Given the description of an element on the screen output the (x, y) to click on. 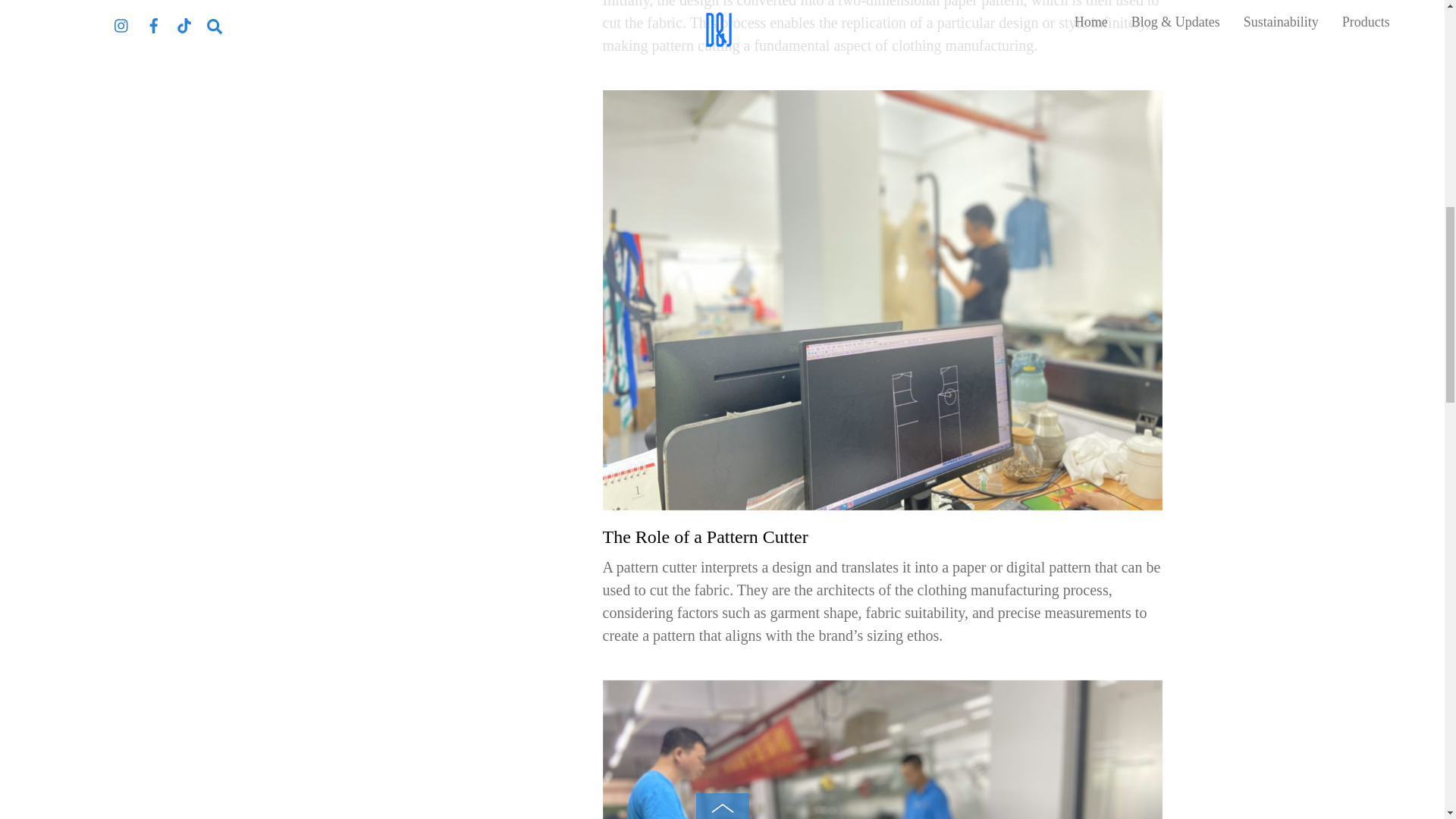
kno01072023-09-PH04 (881, 749)
Toggle Footer (722, 3)
